Given the description of an element on the screen output the (x, y) to click on. 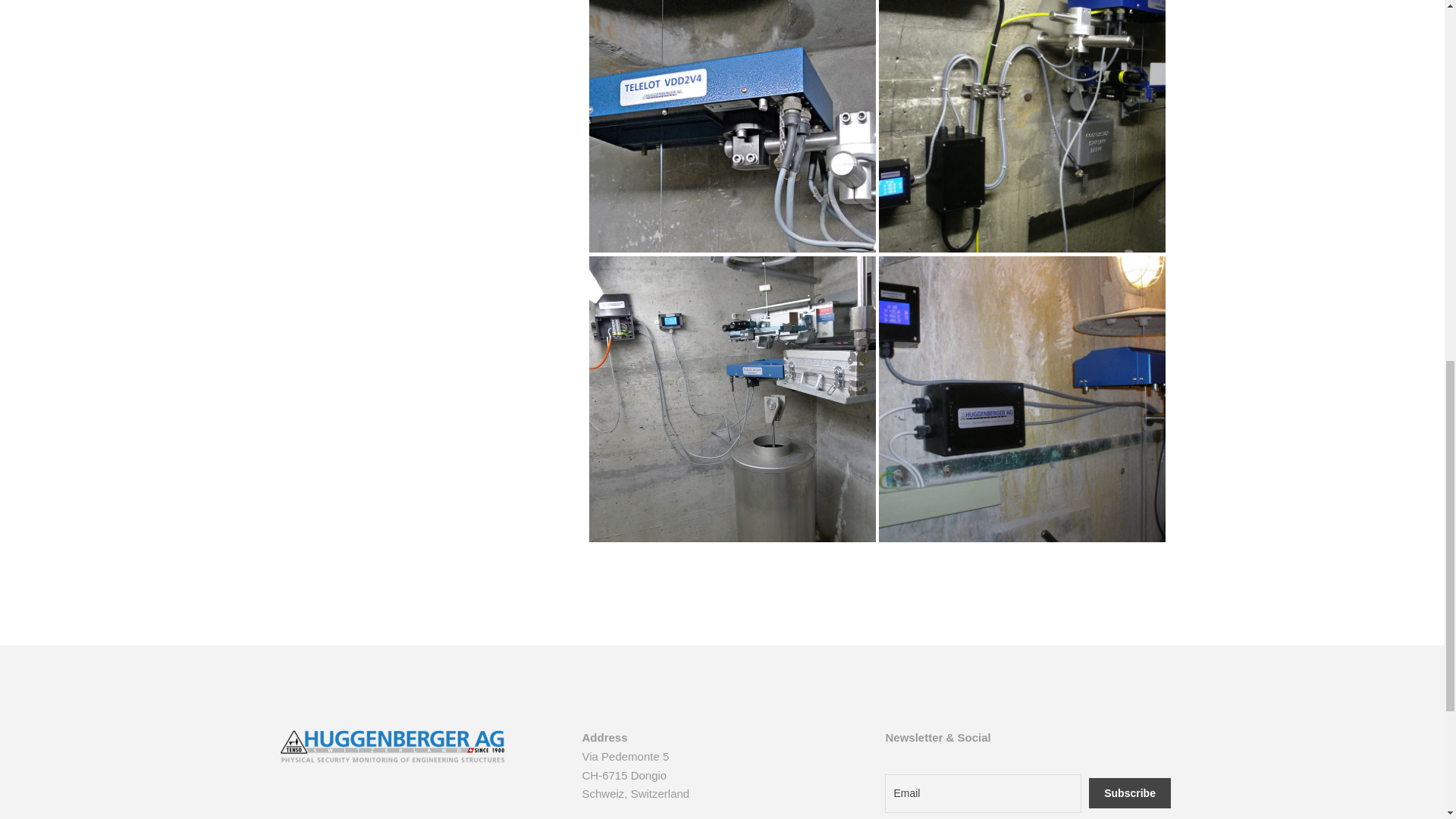
Subscribe (1129, 793)
Subscribe (1129, 793)
